Given the description of an element on the screen output the (x, y) to click on. 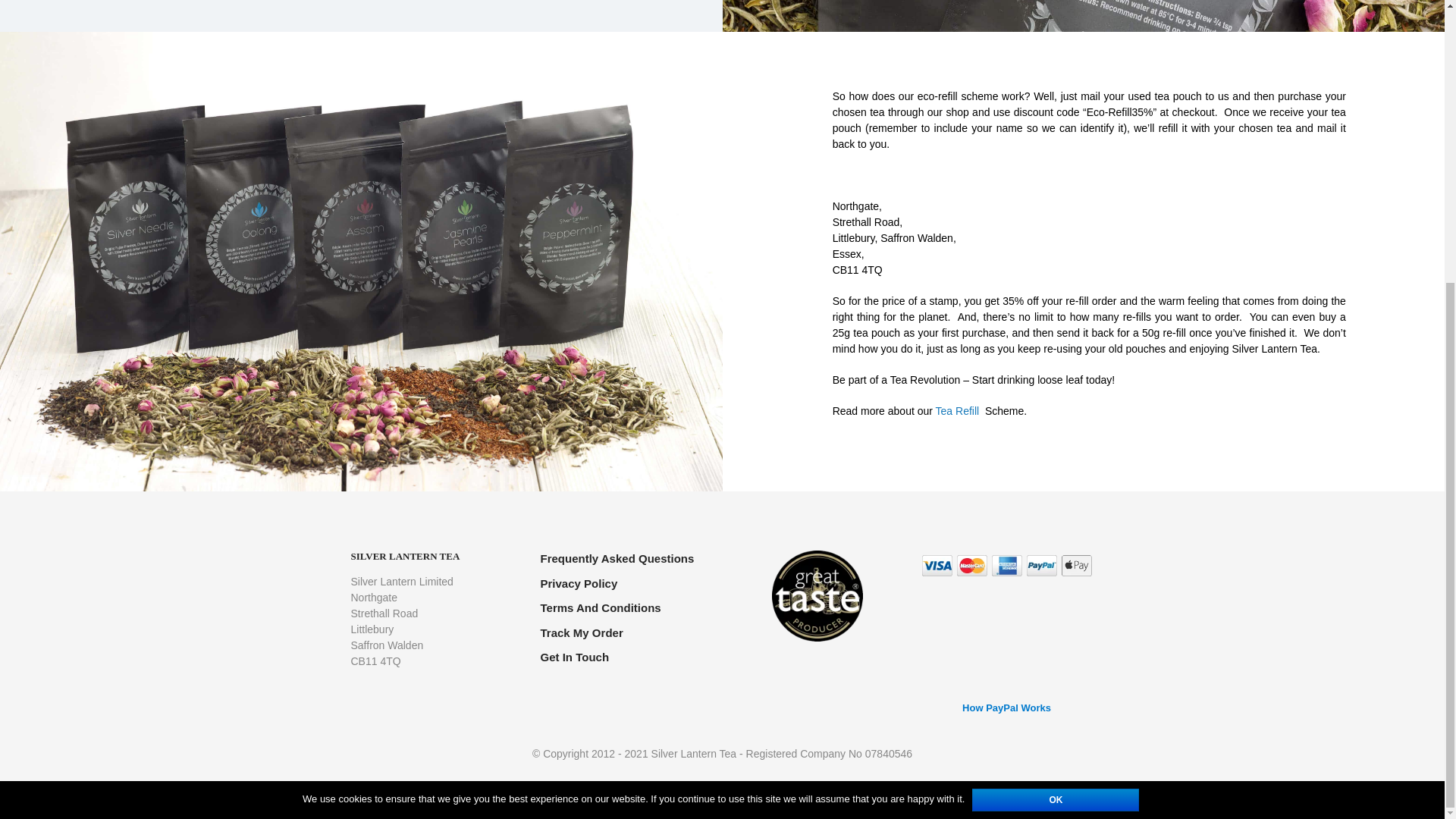
Track My Order (581, 632)
How PayPal Works (1006, 706)
Terms And Conditions (600, 607)
Tea Refill (958, 410)
How PayPal Works (1005, 638)
Get In Touch (574, 656)
Frequently Asked Questions (617, 558)
Privacy Policy (578, 583)
